Given the description of an element on the screen output the (x, y) to click on. 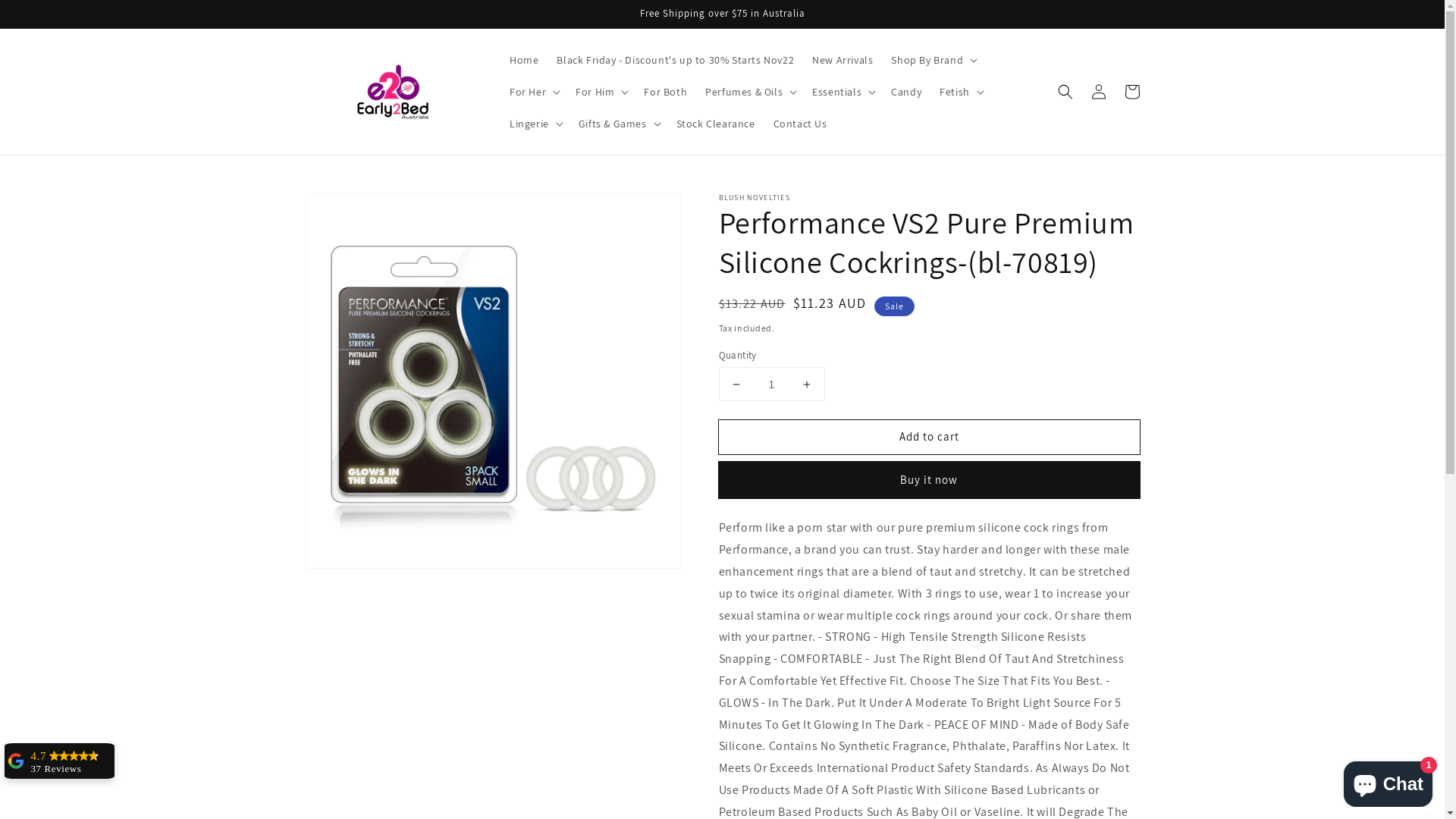
New Arrivals Element type: text (842, 59)
For Both Element type: text (665, 91)
Add to cart Element type: text (928, 437)
Skip to product information Element type: text (349, 209)
Home Element type: text (523, 59)
Contact Us Element type: text (800, 123)
Buy it now Element type: text (928, 479)
Cart Element type: text (1131, 91)
Black Friday - Discount's up to 30% Starts Nov22 Element type: text (675, 59)
Log in Element type: text (1097, 91)
Candy Element type: text (905, 91)
Stock Clearance Element type: text (715, 123)
Shopify online store chat Element type: hover (1388, 780)
